Given the description of an element on the screen output the (x, y) to click on. 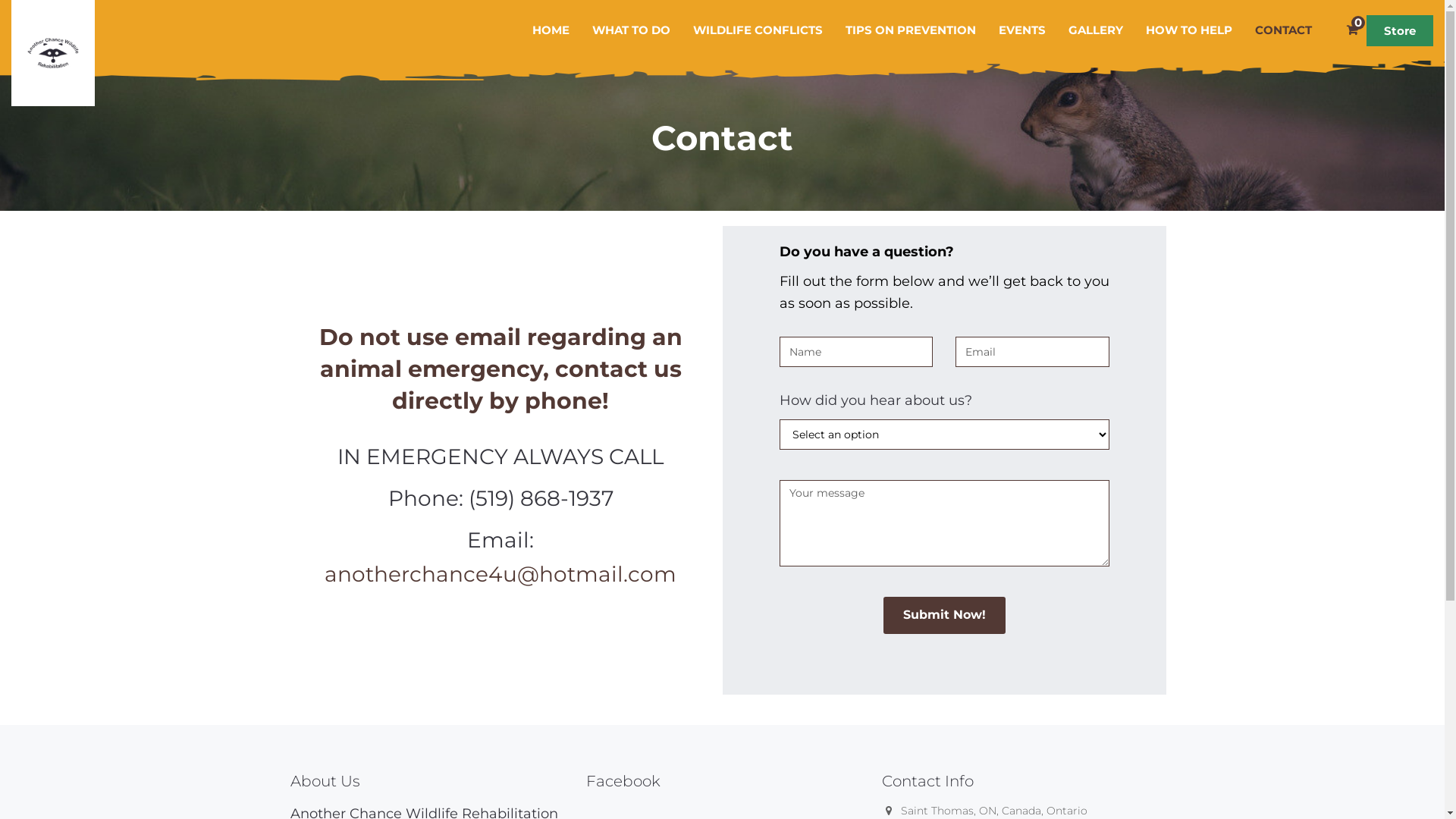
HOME Element type: text (550, 30)
WHAT TO DO Element type: text (630, 30)
WILDLIFE CONFLICTS Element type: text (757, 30)
TIPS ON PREVENTION Element type: text (910, 30)
HOW TO HELP Element type: text (1188, 30)
GALLERY Element type: text (1095, 30)
0 Element type: hover (1350, 29)
Submit Now! Element type: text (943, 614)
Store Element type: text (1399, 30)
CONTACT Element type: text (1283, 30)
anotherchance4u@hotmail.com Element type: text (500, 573)
EVENTS Element type: text (1022, 30)
